Given the description of an element on the screen output the (x, y) to click on. 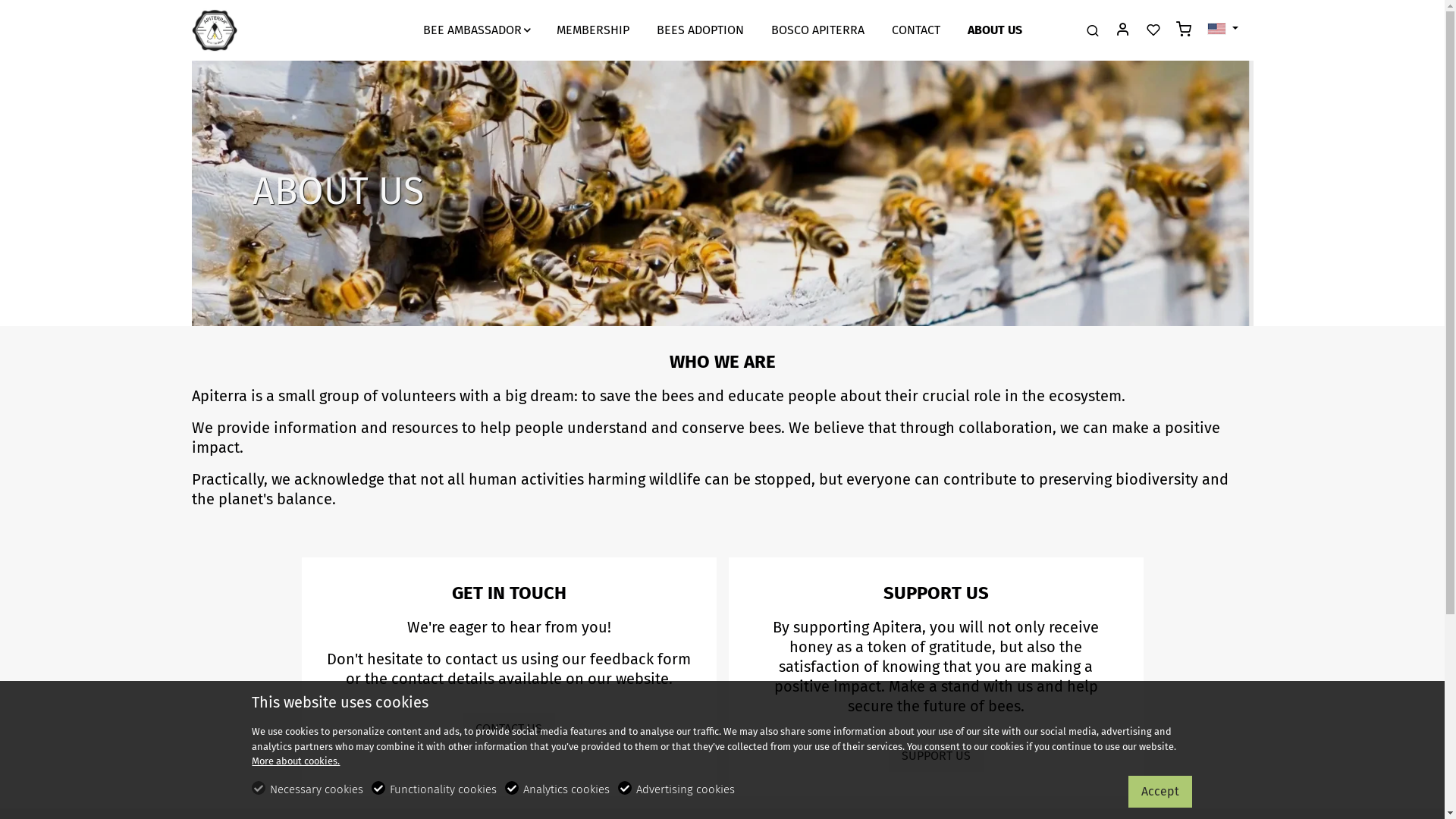
BEE AMBASSADOR Element type: text (475, 29)
Accept Element type: text (1160, 791)
BEES ADOPTION Element type: text (700, 29)
SUPPORT US Element type: text (935, 755)
ABOUT US Element type: text (994, 29)
MEMBERSHIP Element type: text (592, 29)
CONTACT Element type: text (915, 29)
More about cookies. Element type: text (295, 760)
BOSCO APITERRA Element type: text (816, 29)
en Element type: hover (1216, 28)
Apiterra Element type: hover (255, 28)
CONTACT US Element type: text (508, 728)
